Given the description of an element on the screen output the (x, y) to click on. 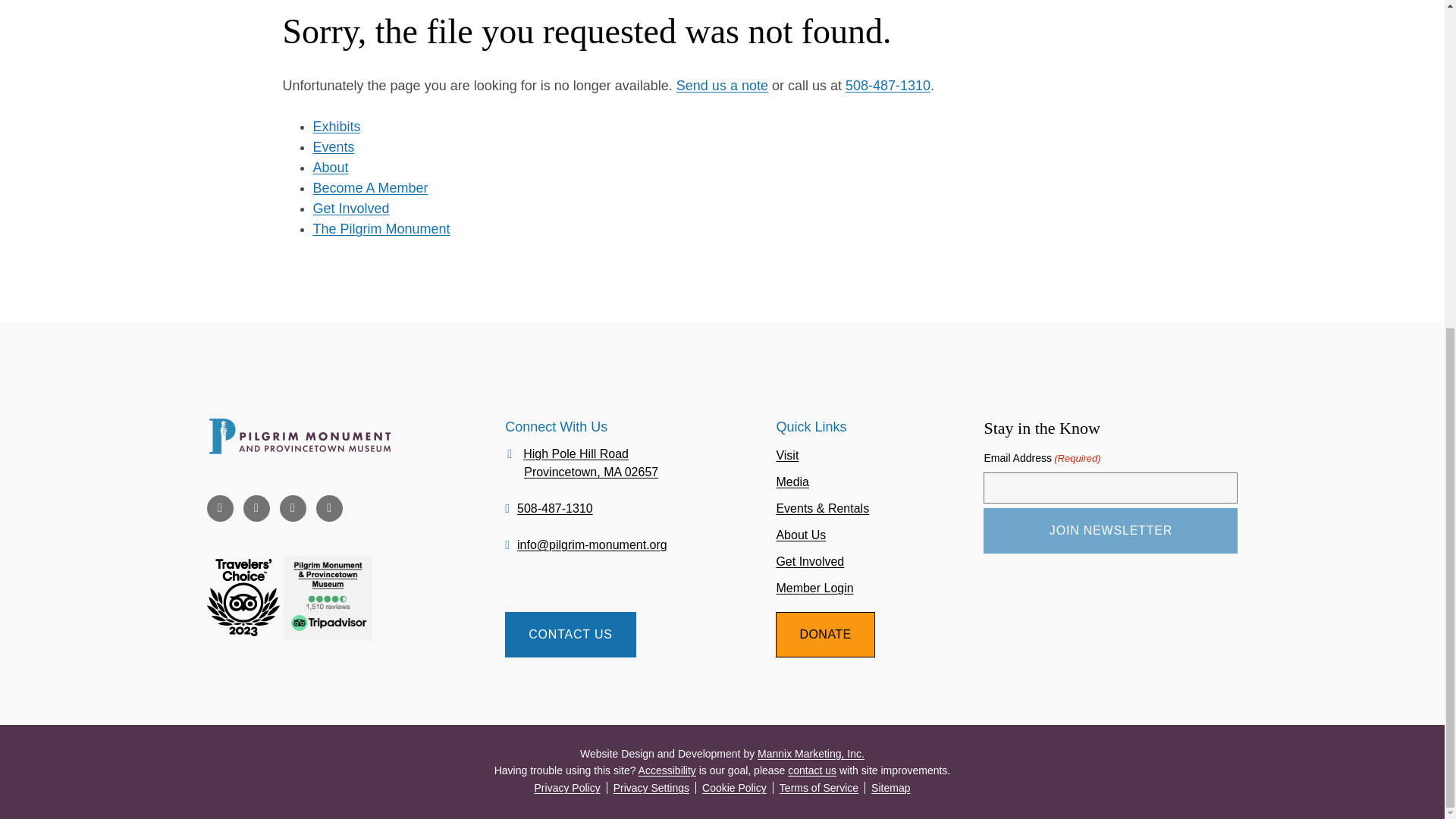
Opens in a new window (328, 508)
Opens in a new window (219, 508)
Opens in a new window (327, 635)
Join Newsletter (1110, 530)
Opens in a new window (292, 508)
Opens in a new window (810, 753)
Opens in a new window (256, 508)
